Given the description of an element on the screen output the (x, y) to click on. 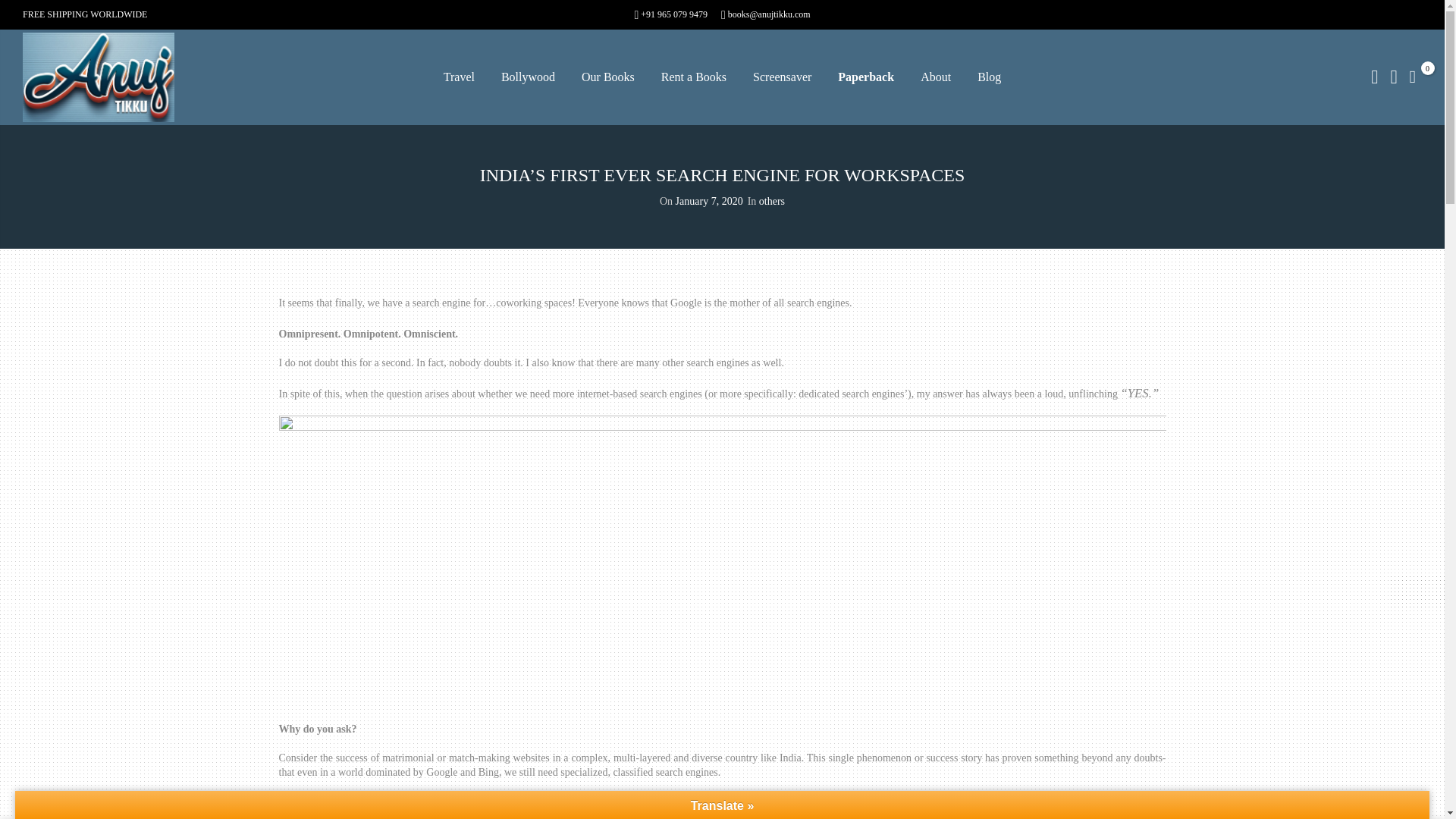
Our Books (607, 76)
Paperback (865, 76)
Blog (988, 76)
Screensaver (781, 76)
Rent a Books (693, 76)
About (935, 76)
Travel (459, 76)
Bollywood (527, 76)
